Given the description of an element on the screen output the (x, y) to click on. 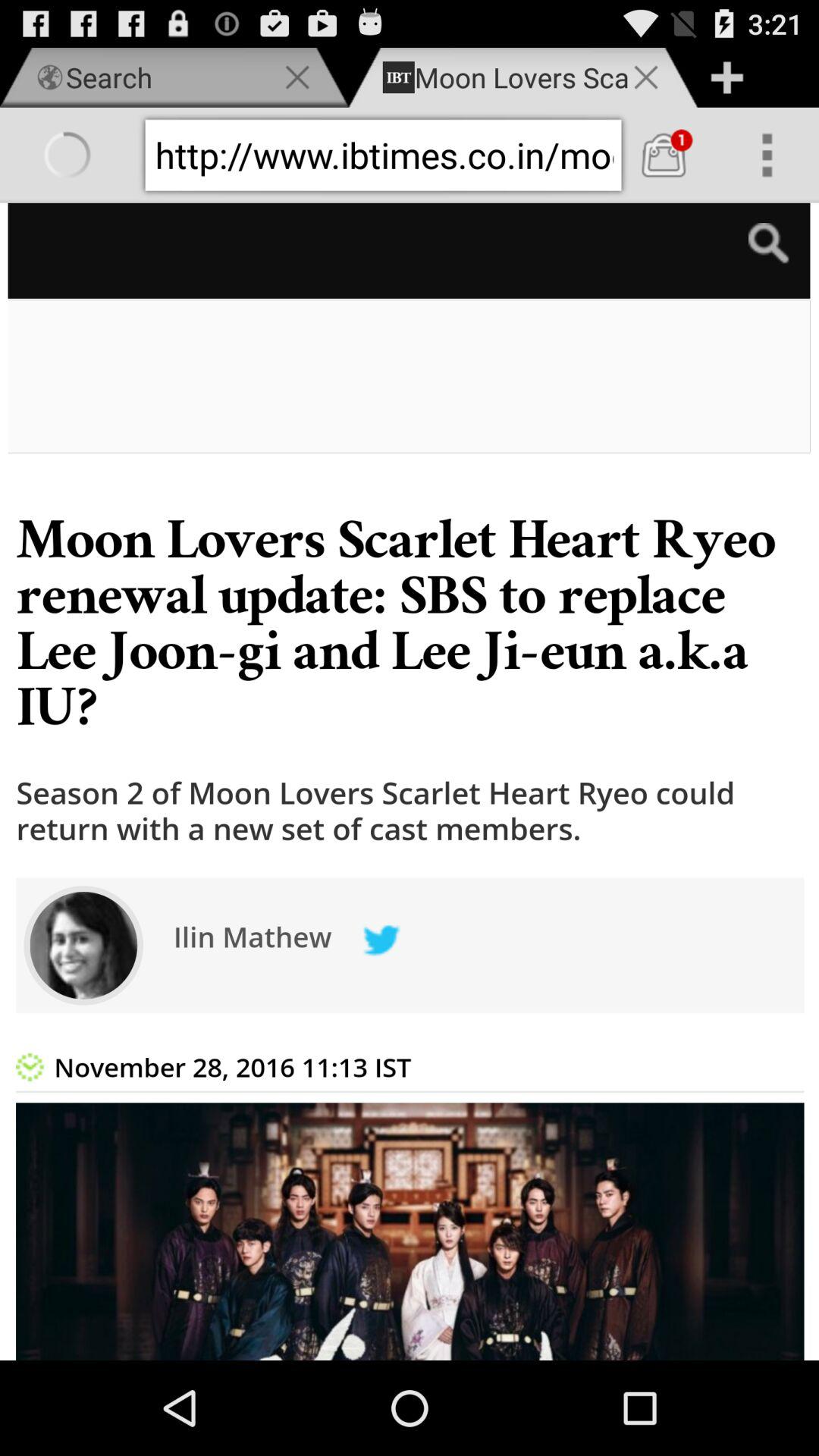
open new tab (727, 77)
